Given the description of an element on the screen output the (x, y) to click on. 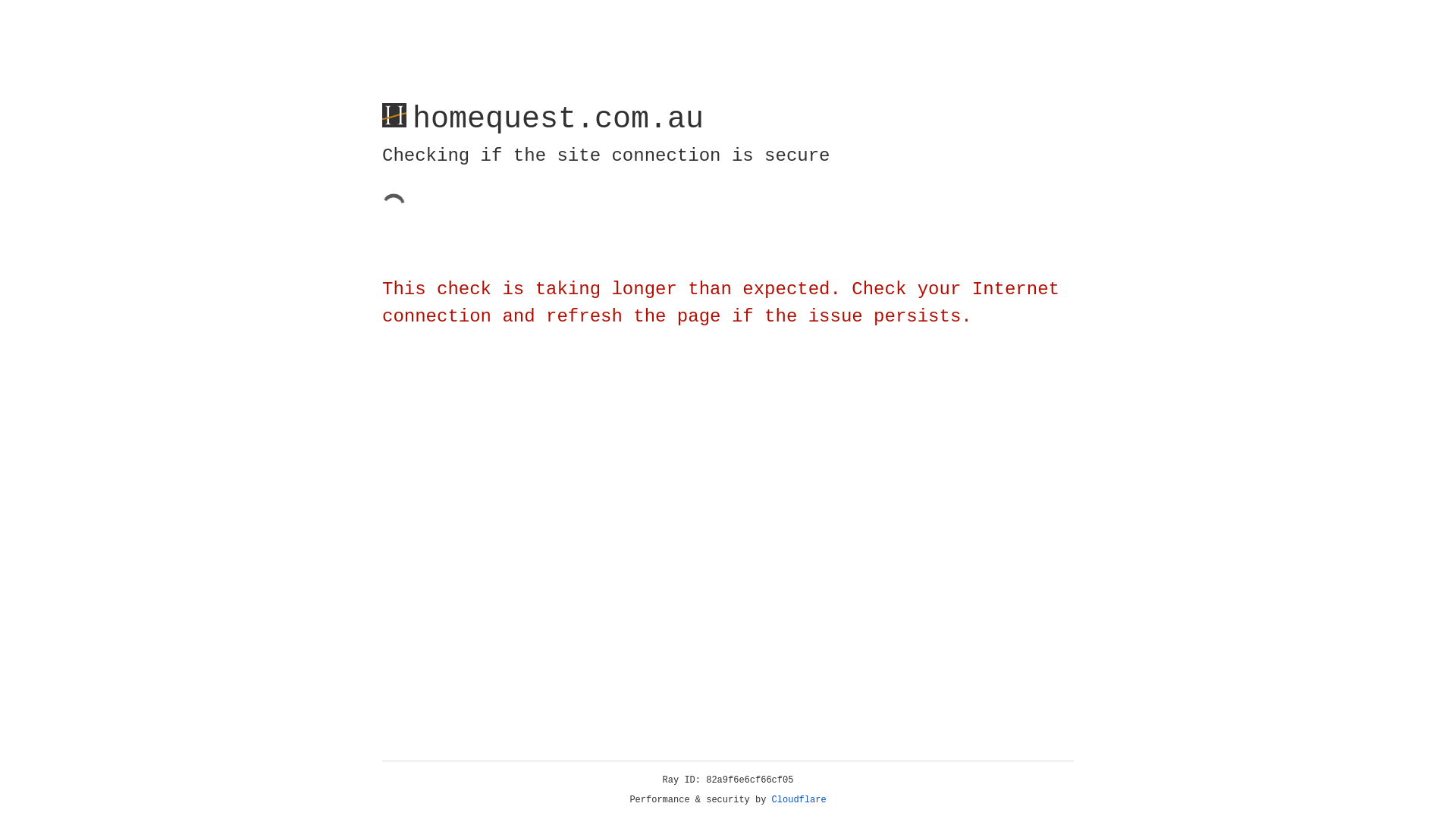
Cloudflare Element type: text (798, 799)
